Given the description of an element on the screen output the (x, y) to click on. 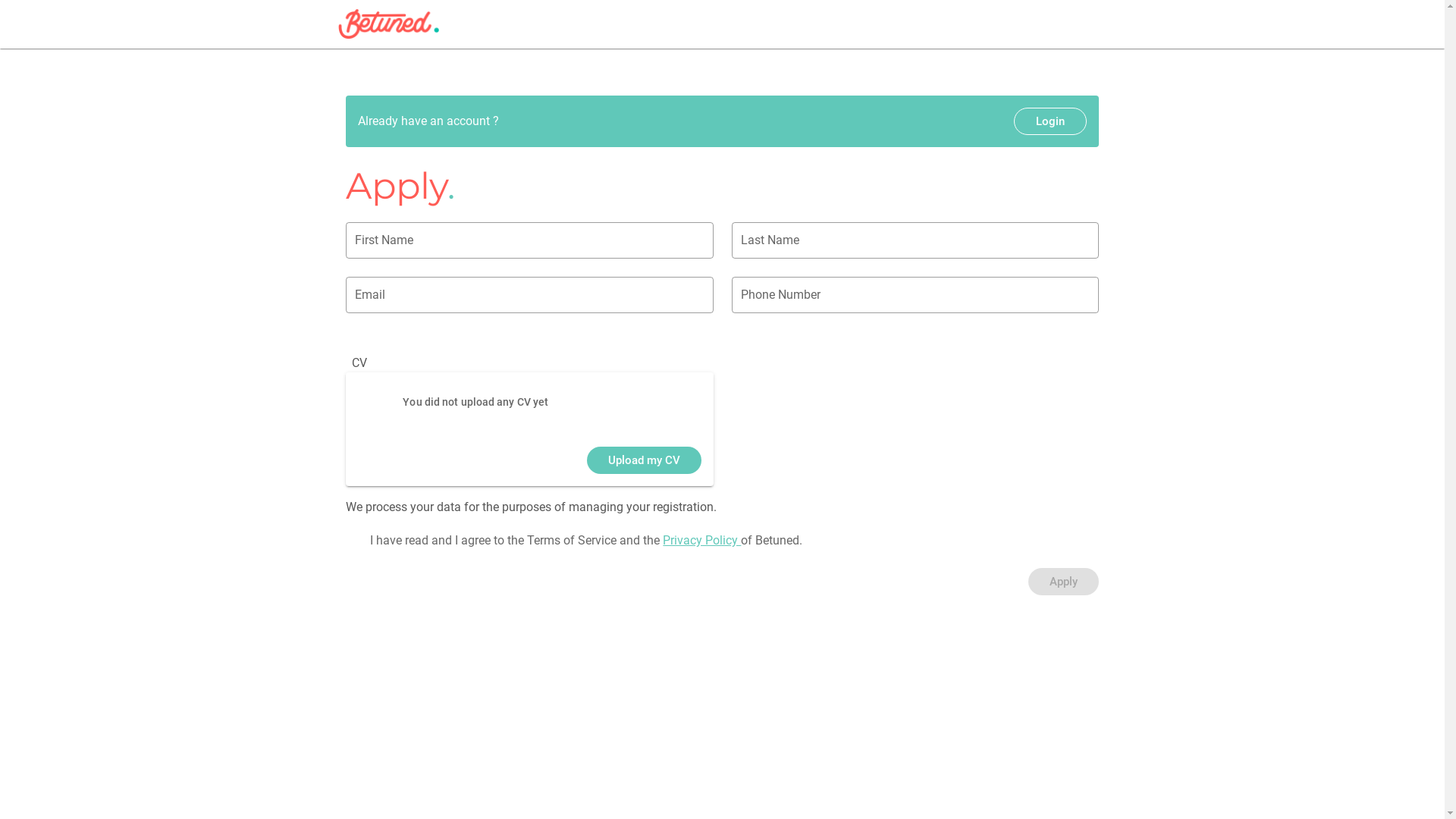
Apply Element type: text (1063, 581)
Login Element type: text (1049, 120)
Upload my CV Element type: text (643, 459)
Privacy Policy Element type: text (701, 540)
